Given the description of an element on the screen output the (x, y) to click on. 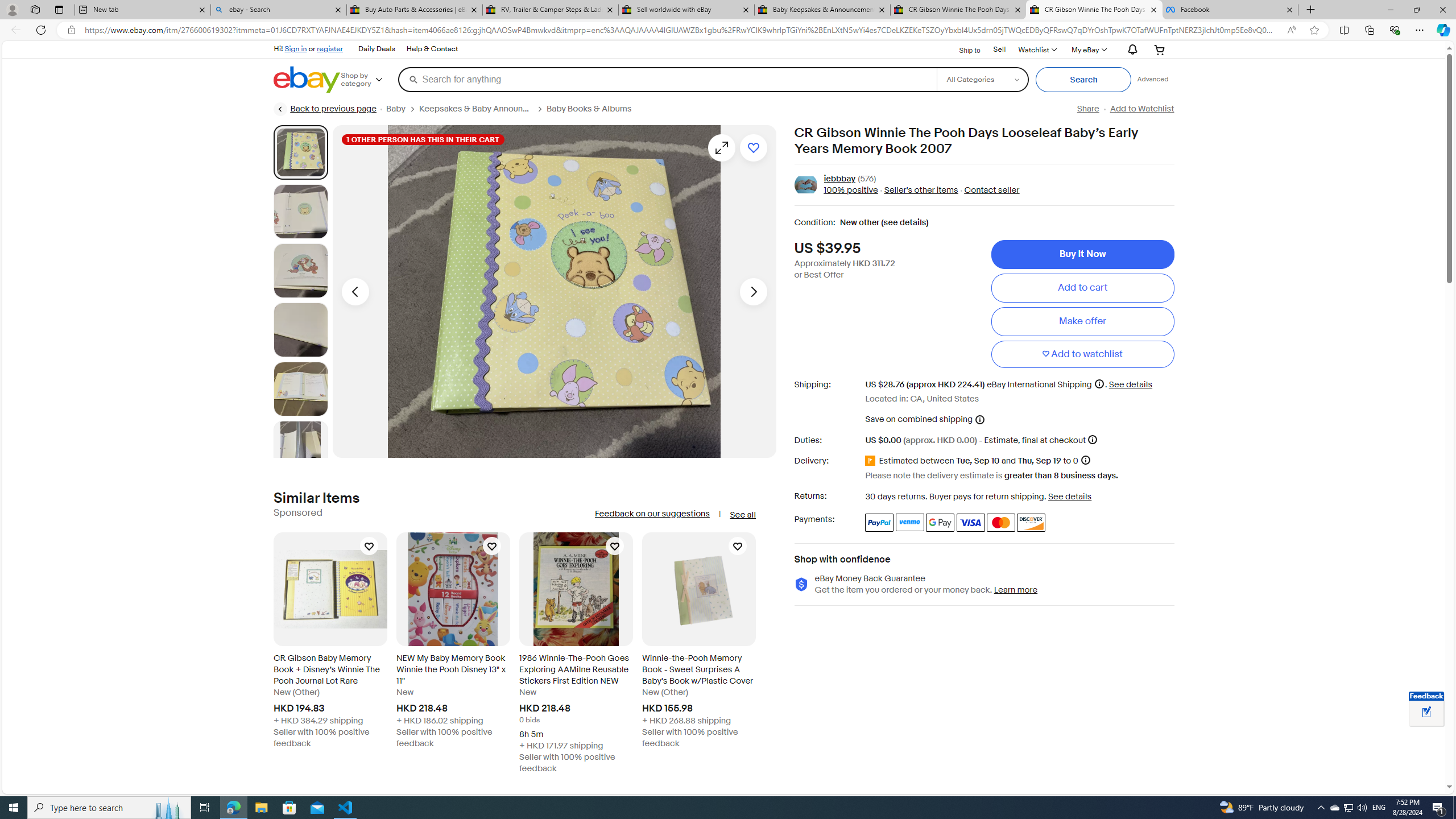
AutomationID: gh-eb-Alerts (1131, 49)
Picture 6 of 22 (300, 447)
Baby (402, 108)
Sell (999, 49)
Help & Contact (432, 49)
Google Pay (940, 521)
Make offer (1082, 320)
Picture 6 of 22 (300, 448)
Expand Cart (1159, 49)
Add to watchlist (1082, 353)
